Given the description of an element on the screen output the (x, y) to click on. 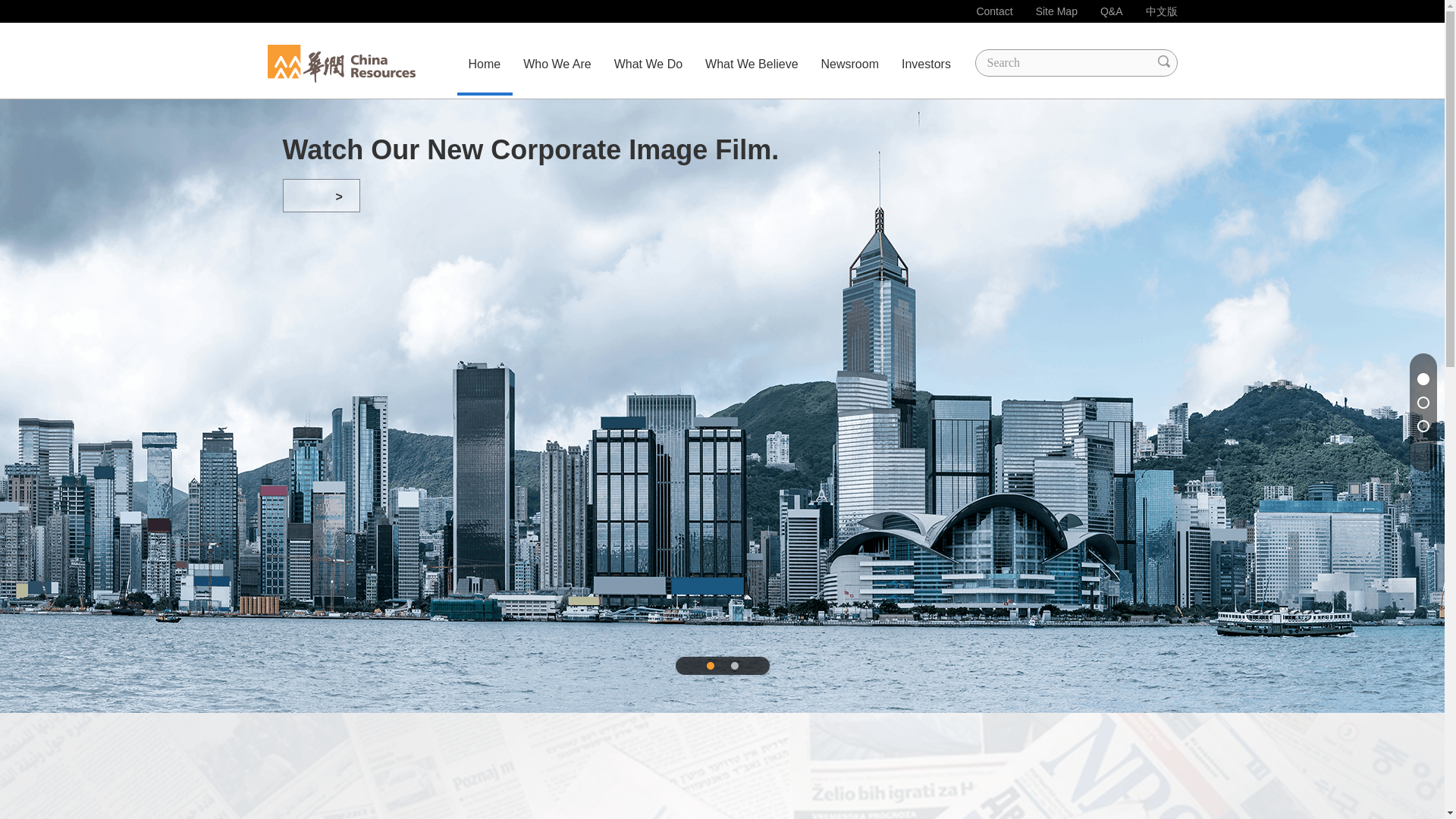
Who We Are (557, 64)
What We Do (648, 64)
What We Believe (751, 64)
Site Map (1056, 10)
Contact (993, 10)
